Given the description of an element on the screen output the (x, y) to click on. 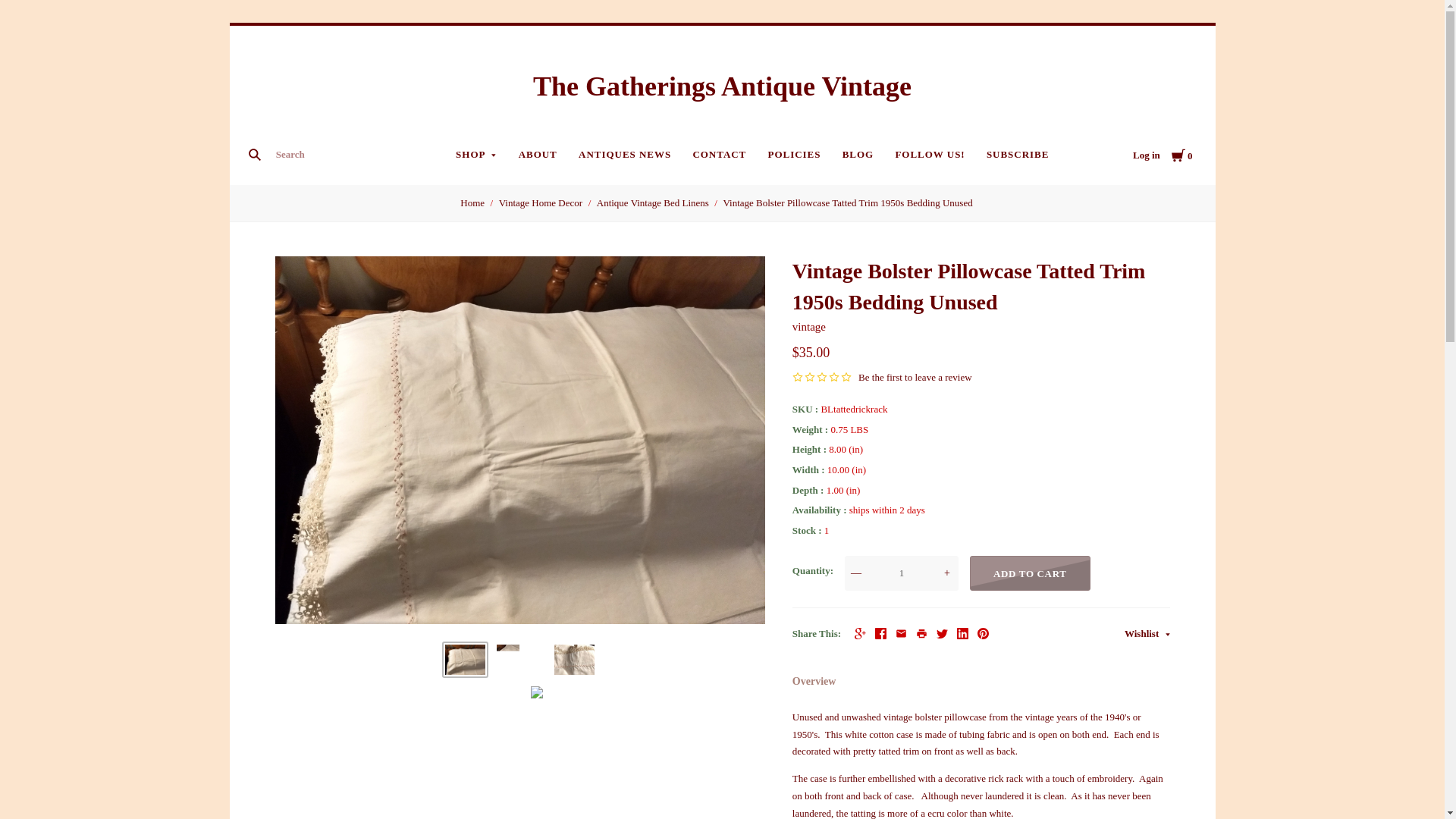
Vintage Bolster Pillowcase Tatted Trim 1950s Bedding Unused (574, 659)
1 (901, 573)
SHOP (475, 154)
Vintage Bolster Pillowcase Tatted Trim 1950s Bedding Unused (464, 659)
Vintage Bolster Pillowcase Tatted Trim 1950s Bedding Unused (537, 692)
